Given the description of an element on the screen output the (x, y) to click on. 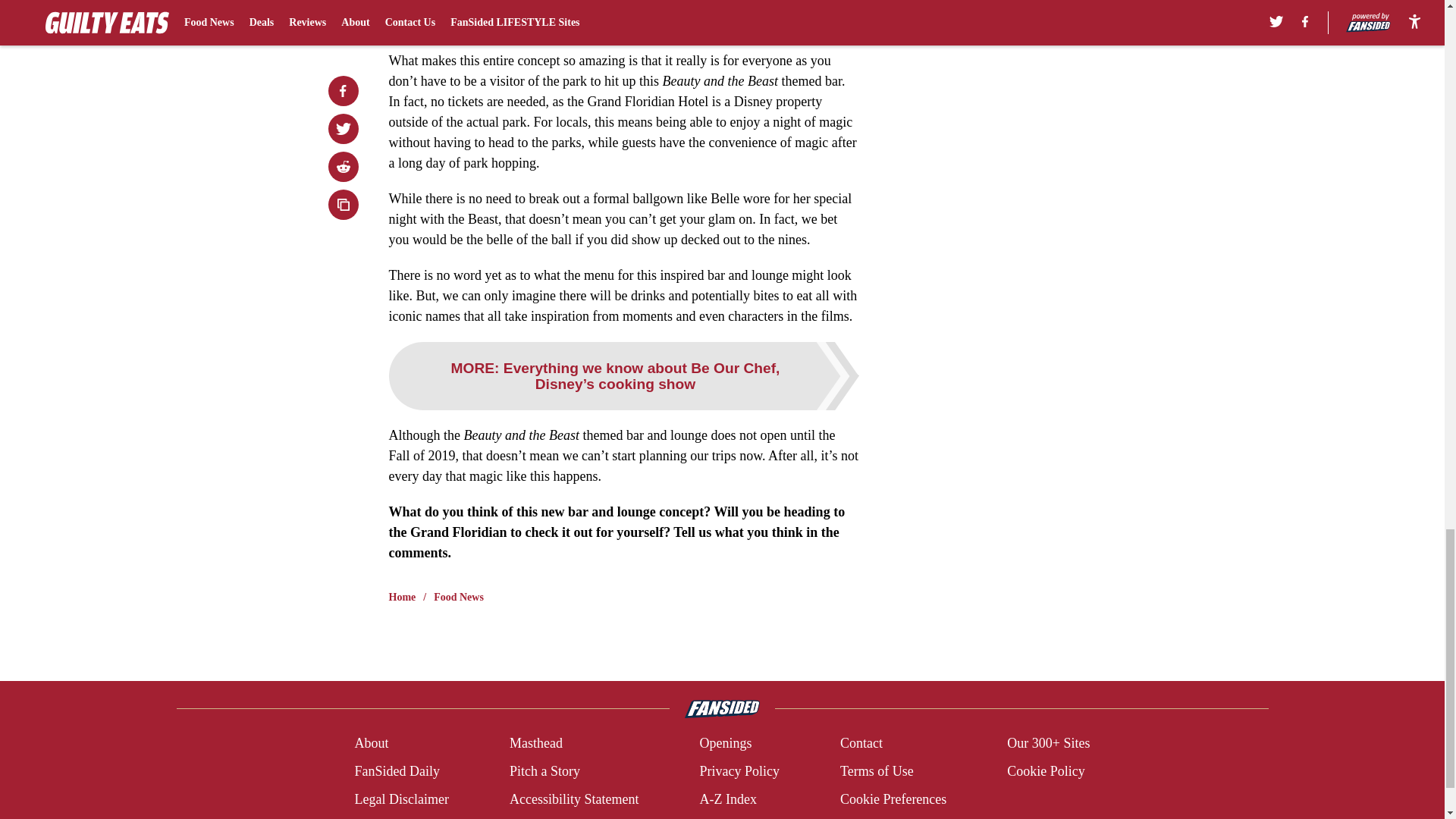
Food News (458, 597)
About (370, 743)
Pitch a Story (544, 771)
The Dairy Queen Blizzard of the Month for December is? (561, 6)
Terms of Use (877, 771)
FanSided Daily (396, 771)
Openings (724, 743)
Home (401, 597)
Legal Disclaimer (400, 799)
